Given the description of an element on the screen output the (x, y) to click on. 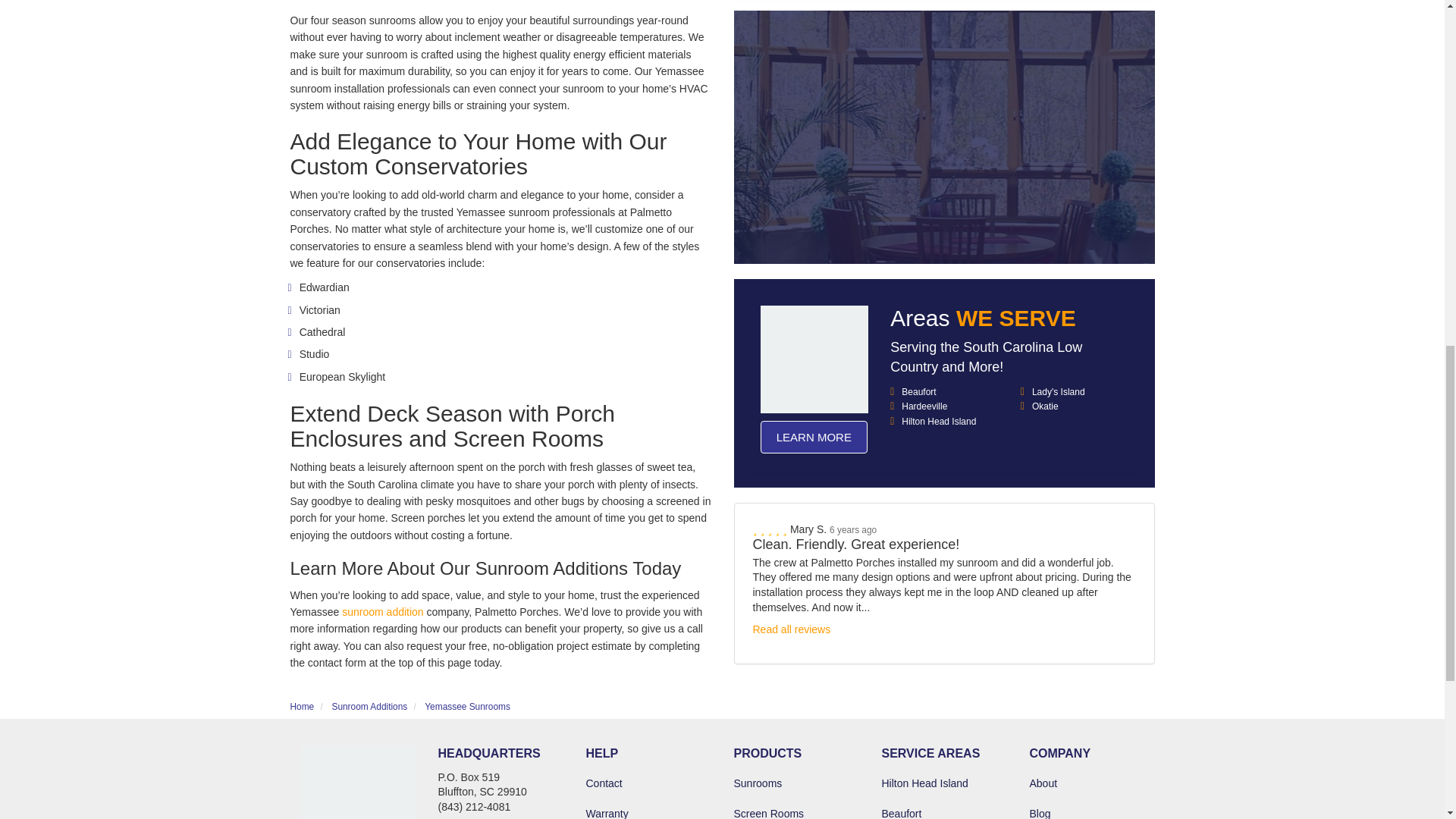
5 Stars (770, 421)
